Given the description of an element on the screen output the (x, y) to click on. 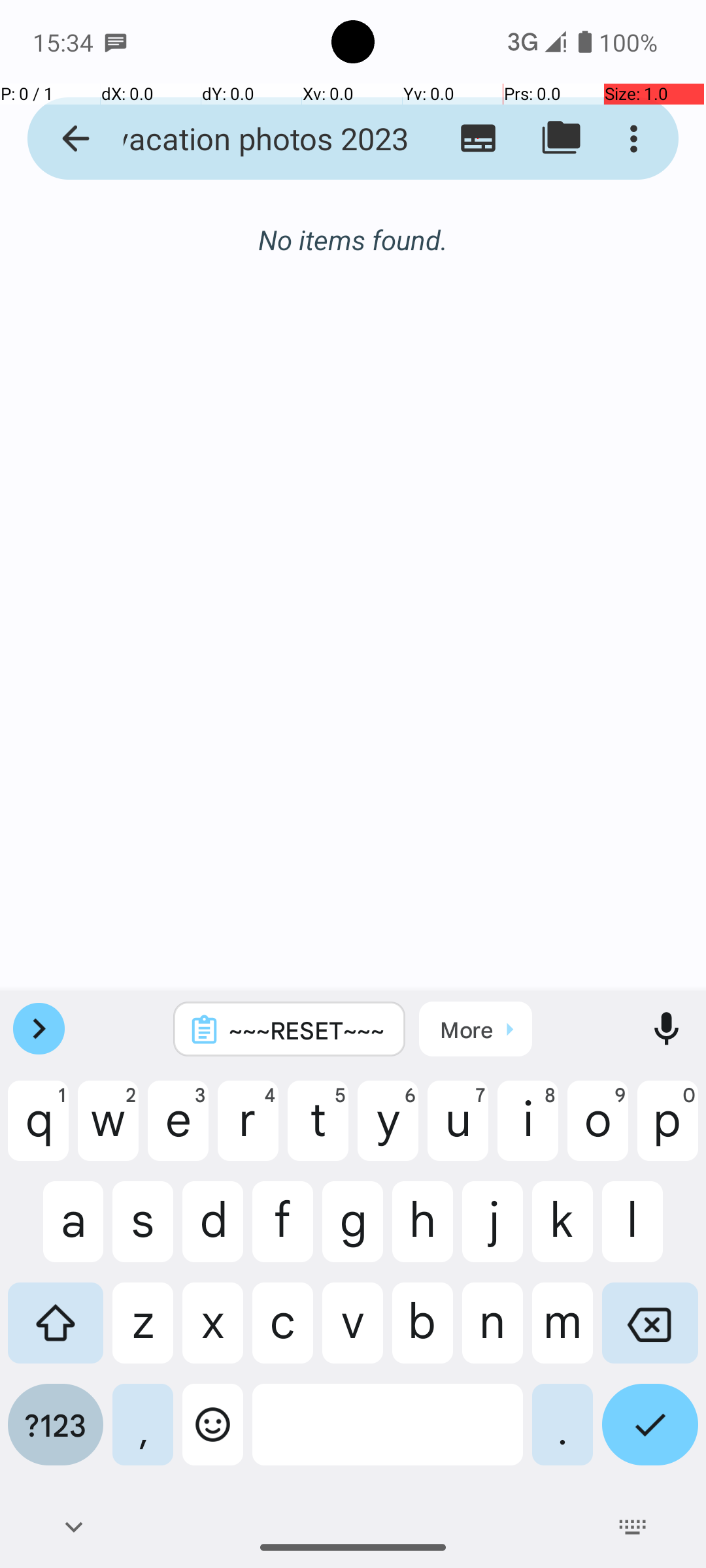
No items found. Element type: android.widget.TextView (353, 225)
vacation photos 2023 Element type: android.widget.EditText (252, 138)
Switch to folder view Element type: android.widget.Button (560, 138)
